Given the description of an element on the screen output the (x, y) to click on. 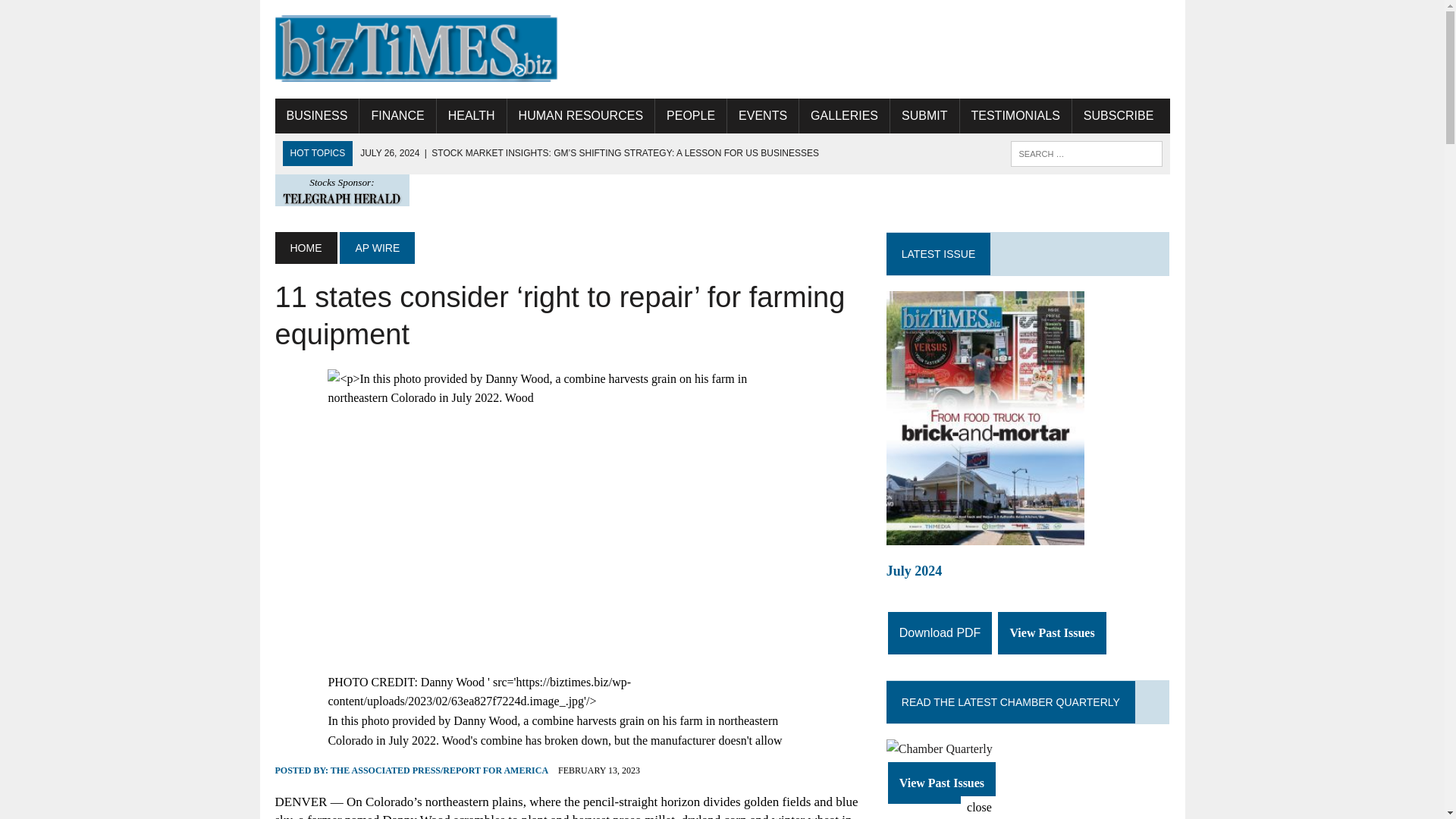
PEOPLE (690, 115)
SUBMIT (923, 115)
GALLERIES (844, 115)
EVENTS (761, 115)
3rd party ad content (893, 49)
BUSINESS (316, 115)
TESTIMONIALS (1015, 115)
HUMAN RESOURCES (579, 115)
BizTimes.biz (416, 48)
FINANCE (397, 115)
SUBSCRIBE (1117, 115)
HEALTH (471, 115)
